Given the description of an element on the screen output the (x, y) to click on. 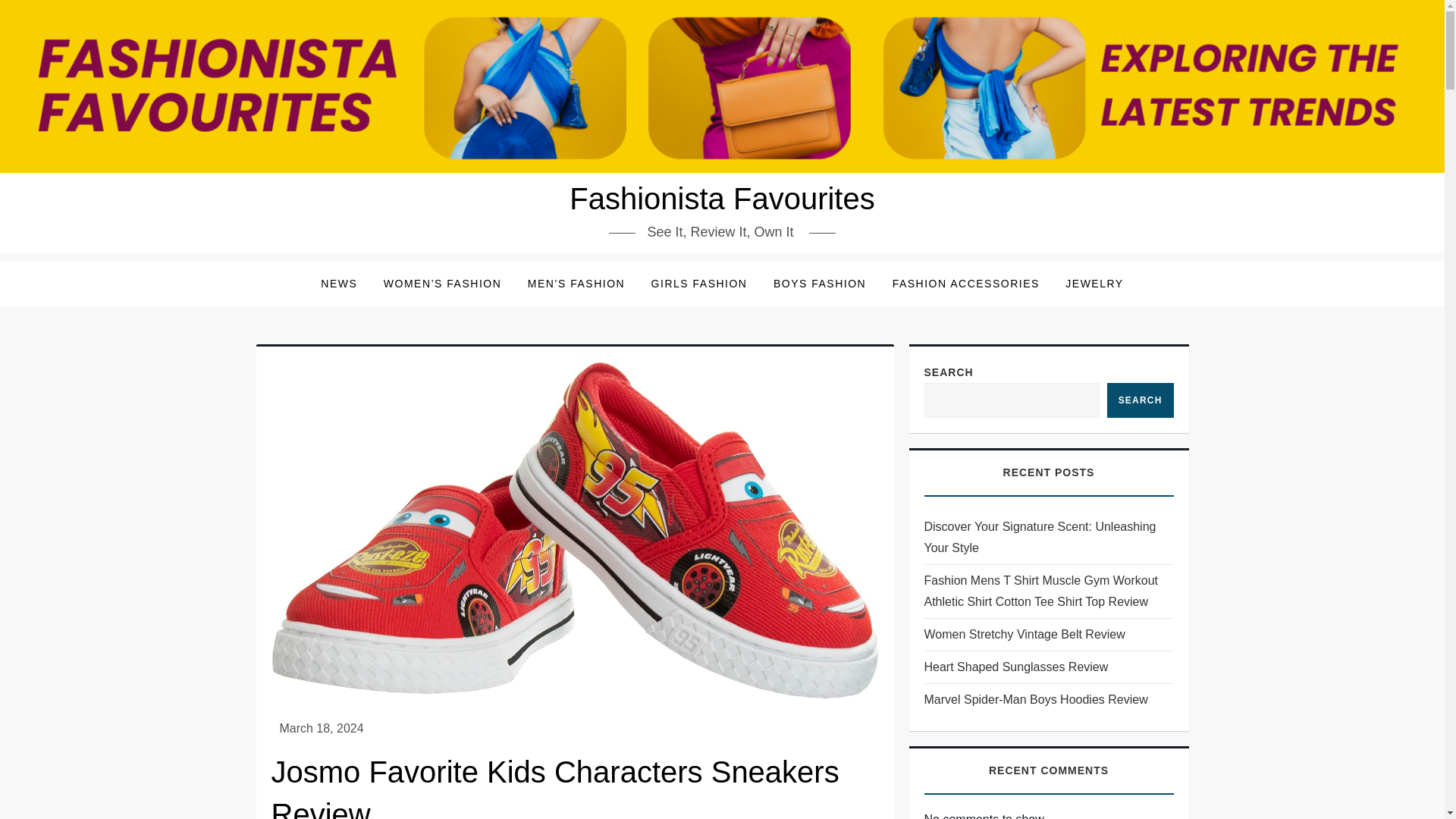
JEWELRY (1094, 283)
Fashionista Favourites (722, 198)
March 18, 2024 (320, 727)
NEWS (338, 283)
GIRLS FASHION (699, 283)
BOYS FASHION (819, 283)
FASHION ACCESSORIES (965, 283)
